Given the description of an element on the screen output the (x, y) to click on. 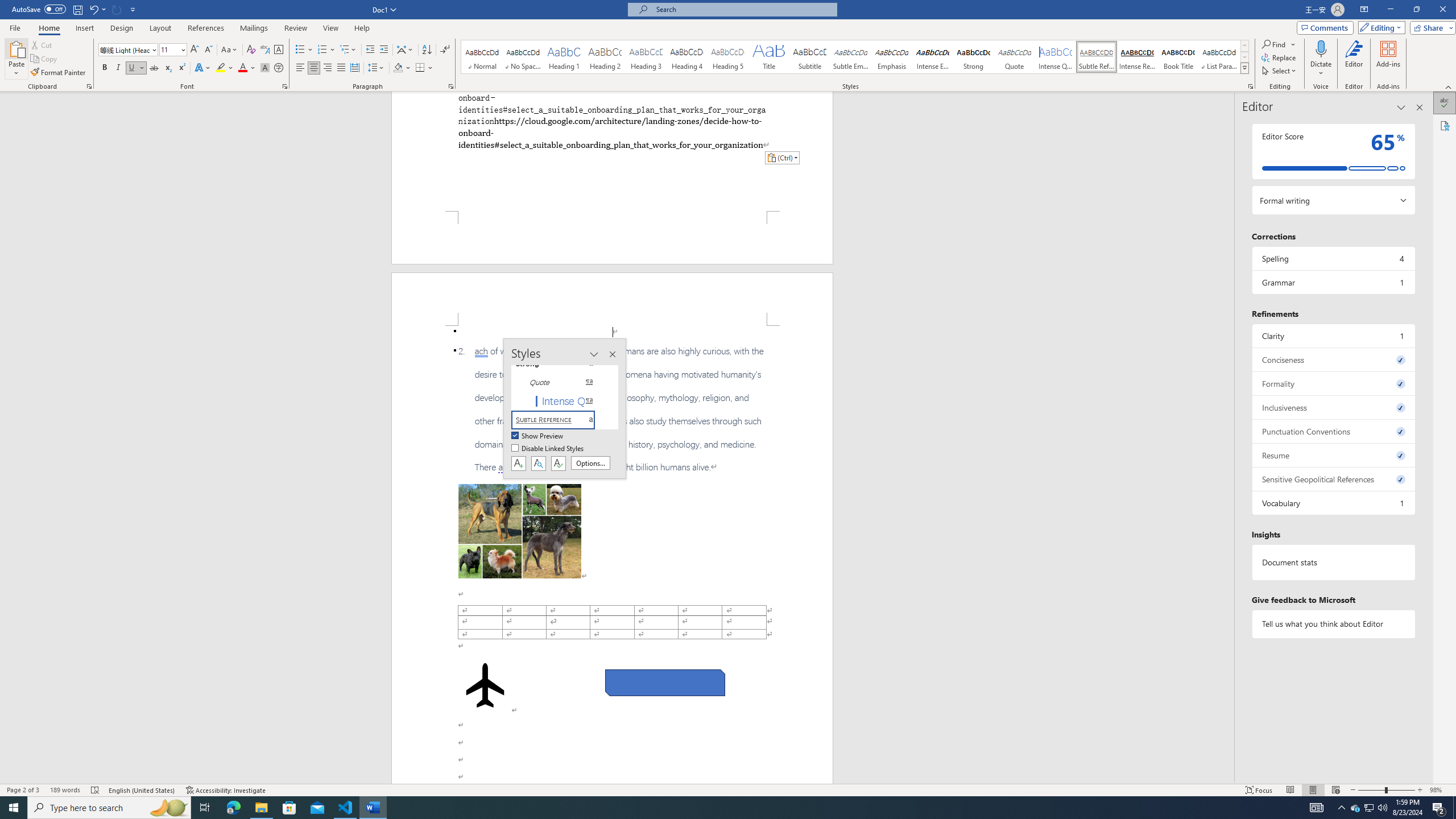
Heading 5 (727, 56)
Class: NetUIButton (558, 463)
